Given the description of an element on the screen output the (x, y) to click on. 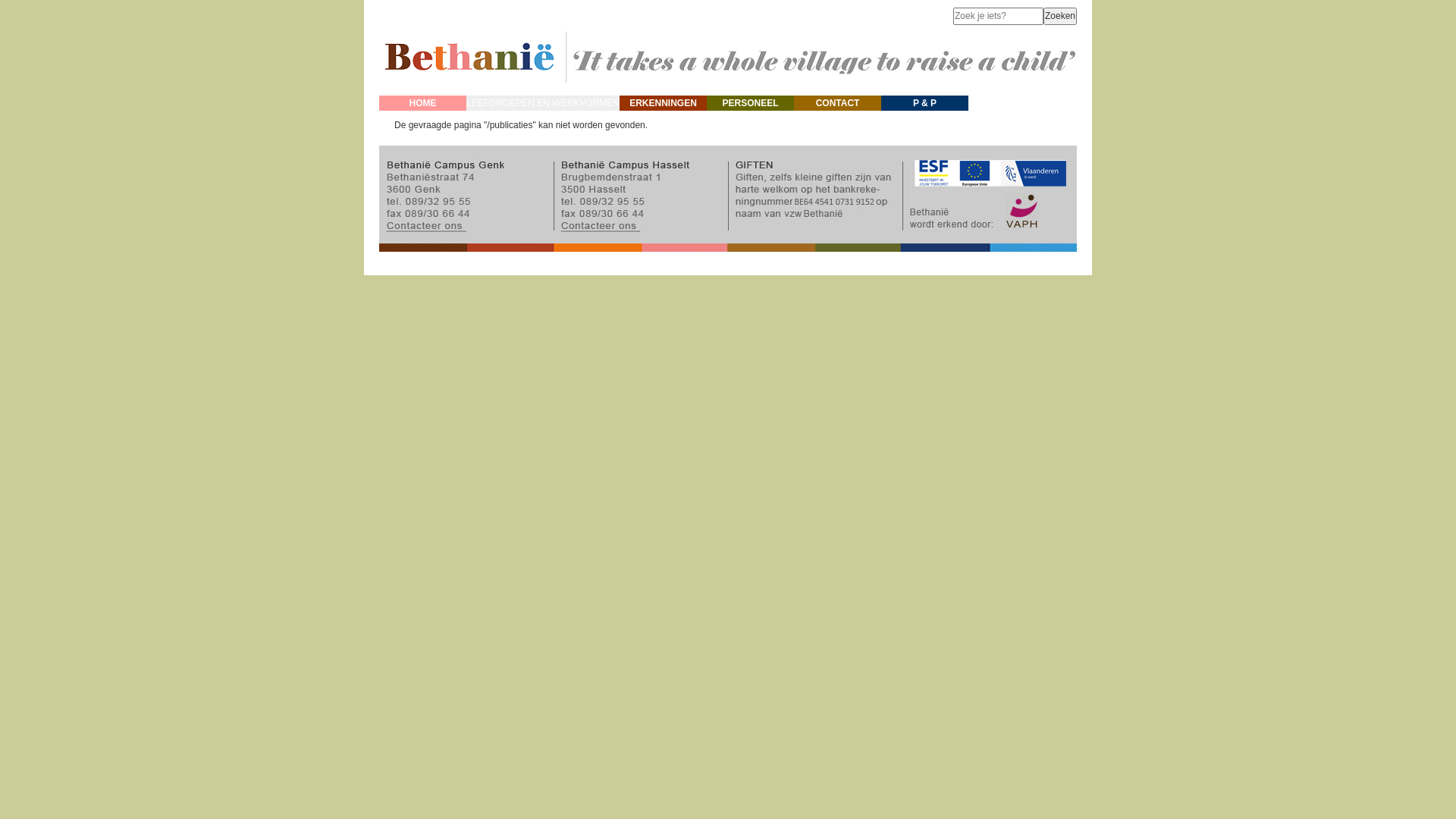
CONTACT Element type: text (837, 102)
ERKENNINGEN Element type: text (662, 102)
P & P Element type: text (924, 102)
home Element type: hover (727, 88)
HOME Element type: text (422, 102)
Overslaan en naar de algemene inhoud gaan Element type: text (91, 0)
Zoeken Element type: text (1059, 16)
Geef de woorden op waarnaar u wilt zoeken. Element type: hover (998, 16)
PERSONEEL Element type: text (749, 102)
LEEFGROEPEN EN WERKVORMEN Element type: text (542, 102)
